Given the description of an element on the screen output the (x, y) to click on. 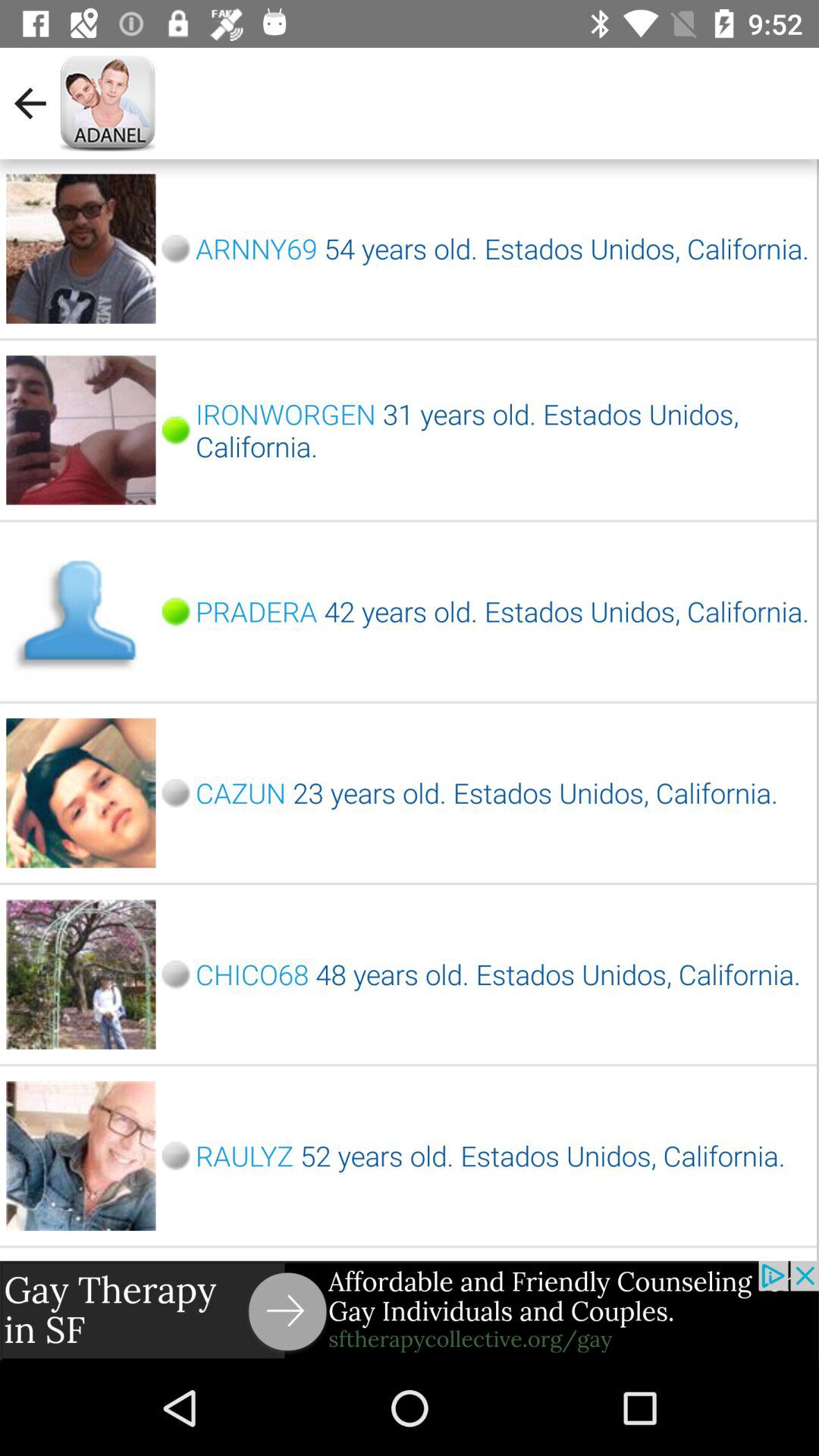
advertisement banner (409, 1310)
